Given the description of an element on the screen output the (x, y) to click on. 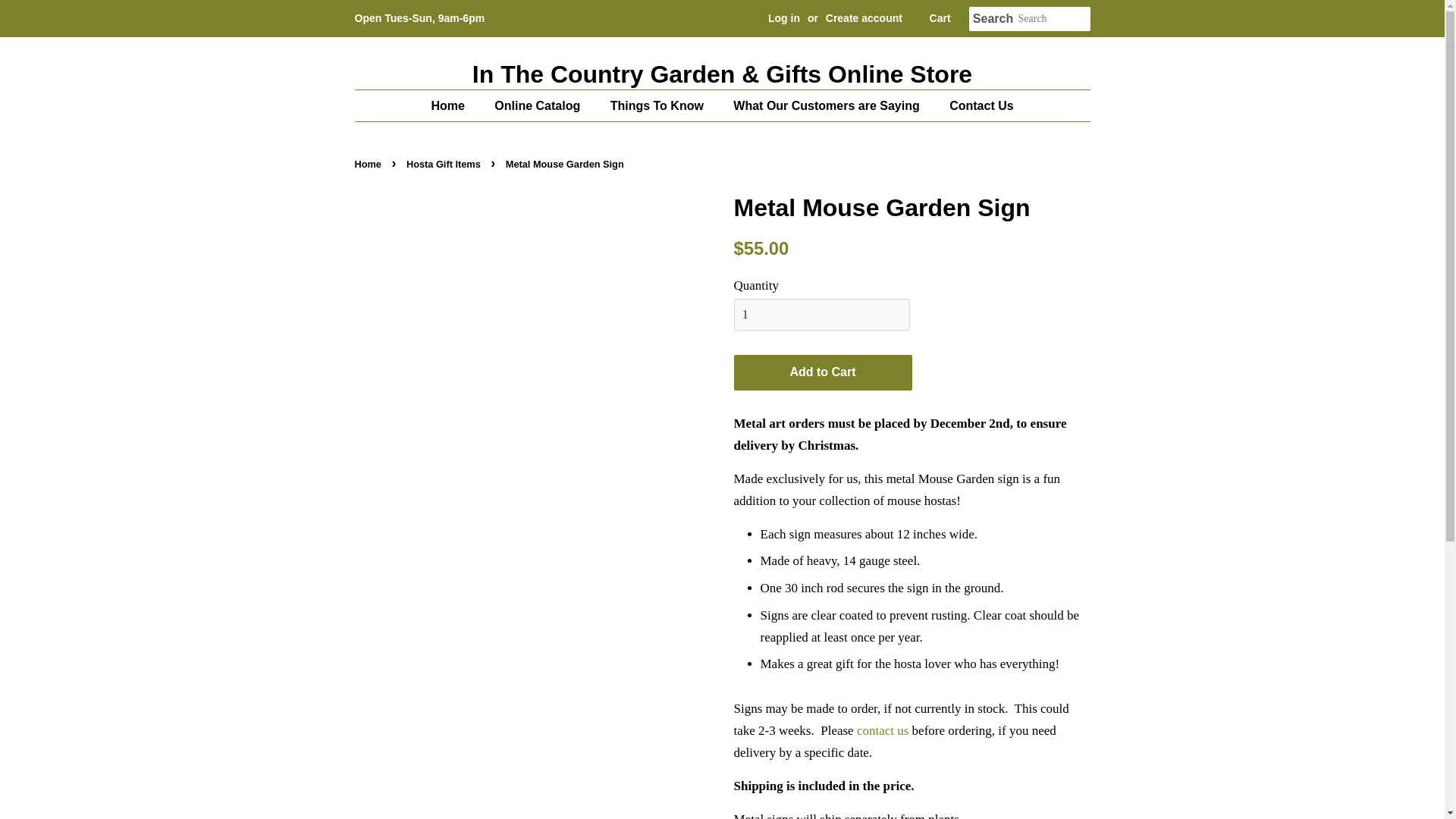
Back to the frontpage (370, 163)
1 (821, 314)
Search (993, 18)
Log in (783, 18)
Cart (940, 18)
Create account (863, 18)
